Given the description of an element on the screen output the (x, y) to click on. 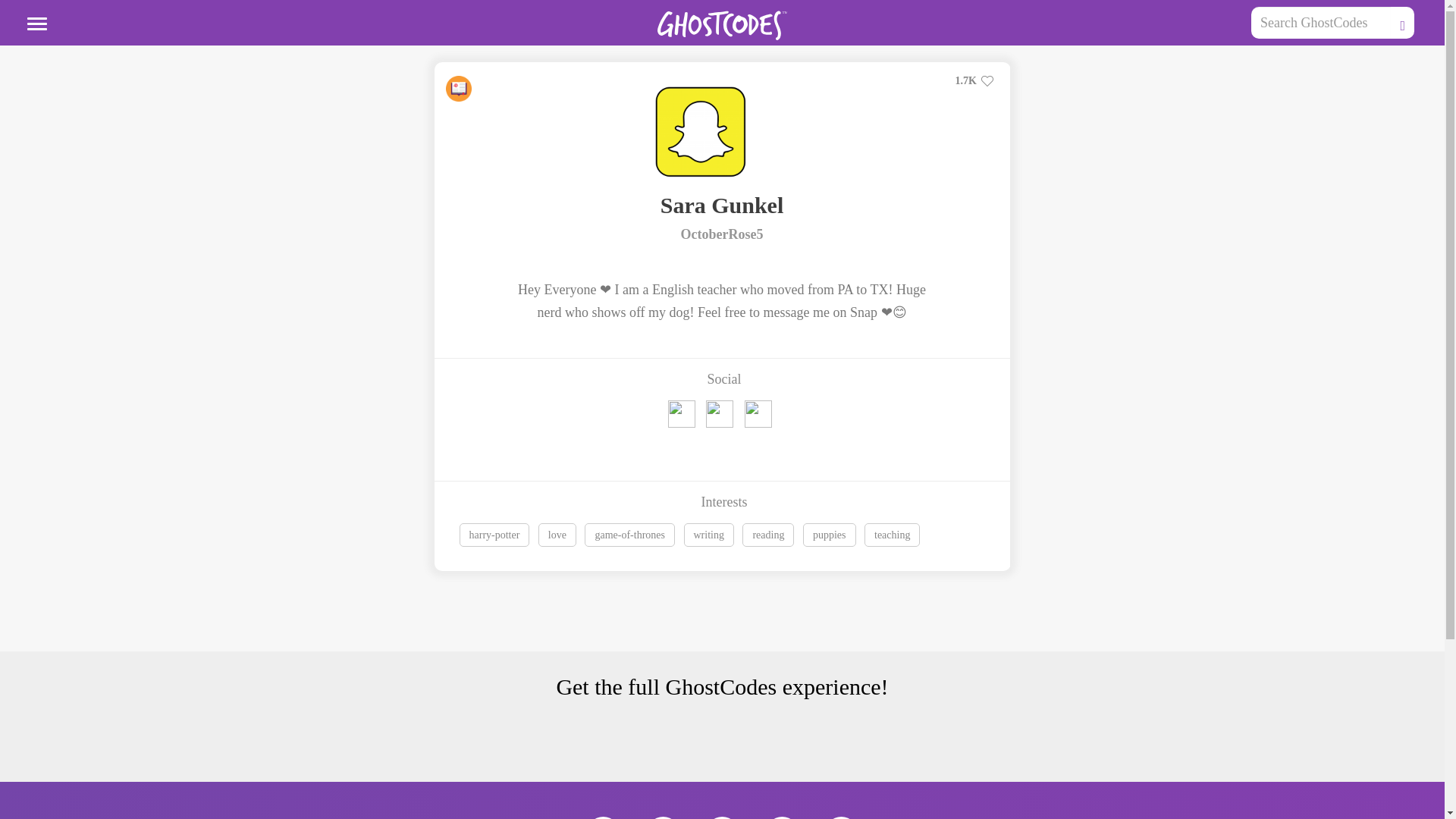
teaching (895, 536)
puppies (833, 536)
Twitter (725, 419)
reading (772, 536)
heart-icon (986, 80)
Youtube (841, 817)
Facebook (662, 817)
ghostcodes-logo (722, 25)
writing (708, 535)
reading (767, 535)
harry-potter (499, 536)
Storytellers (458, 88)
Instagram (780, 817)
love (557, 535)
OctoberRose5-ghostcodes (700, 131)
